Given the description of an element on the screen output the (x, y) to click on. 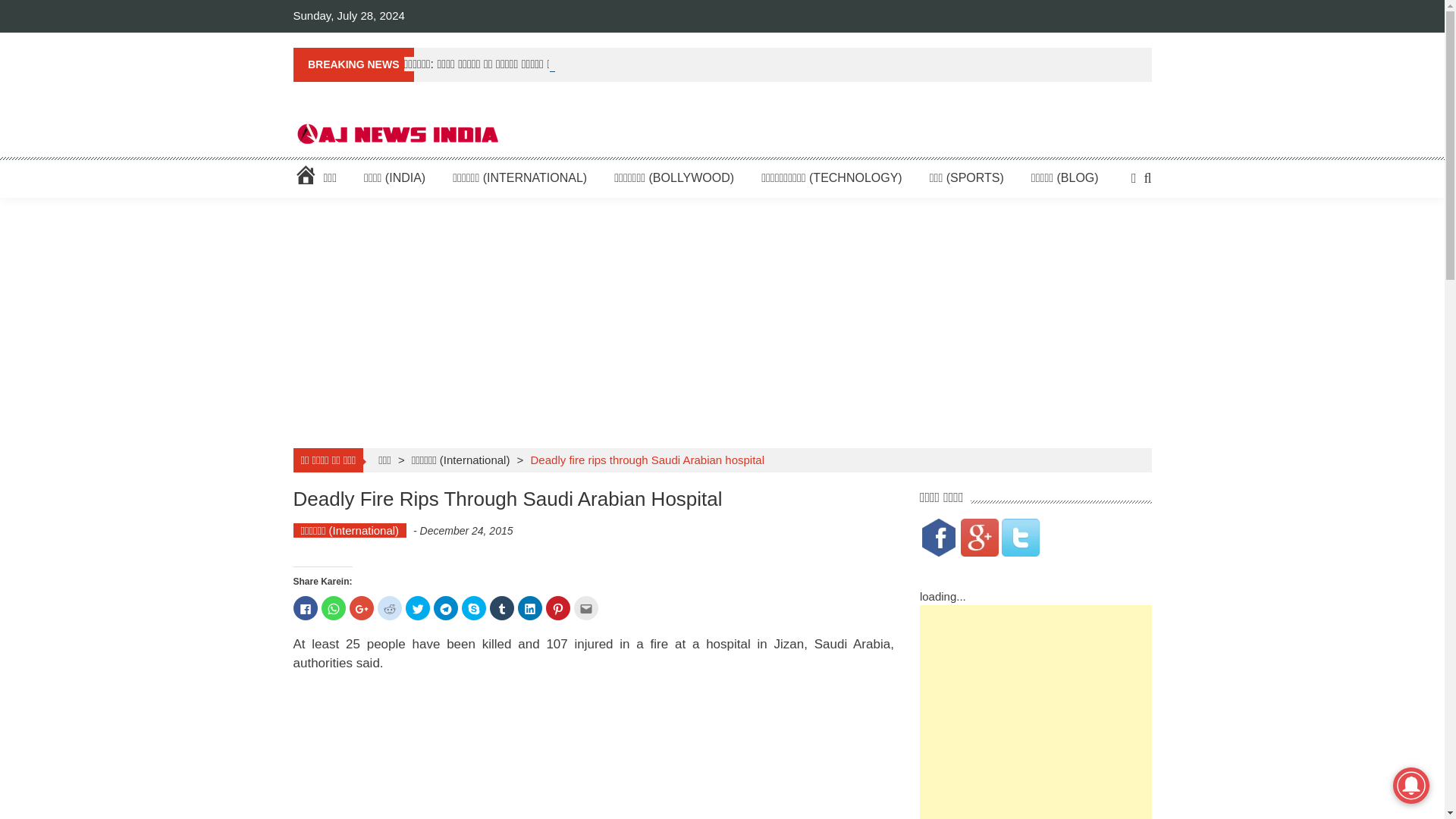
Click to share on Reddit (389, 607)
Click to email this to a friend (584, 607)
Click to share on Twitter (416, 607)
Click to share on WhatsApp (333, 607)
Advertisement (593, 753)
View a random post (1134, 177)
Click to share on Telegram (445, 607)
Click to share on LinkedIn (528, 607)
Share on Skype (472, 607)
Aaj News India (396, 132)
Click to share on Pinterest (558, 607)
Click to share on Tumblr (501, 607)
Click to share on Facebook (304, 607)
